Given the description of an element on the screen output the (x, y) to click on. 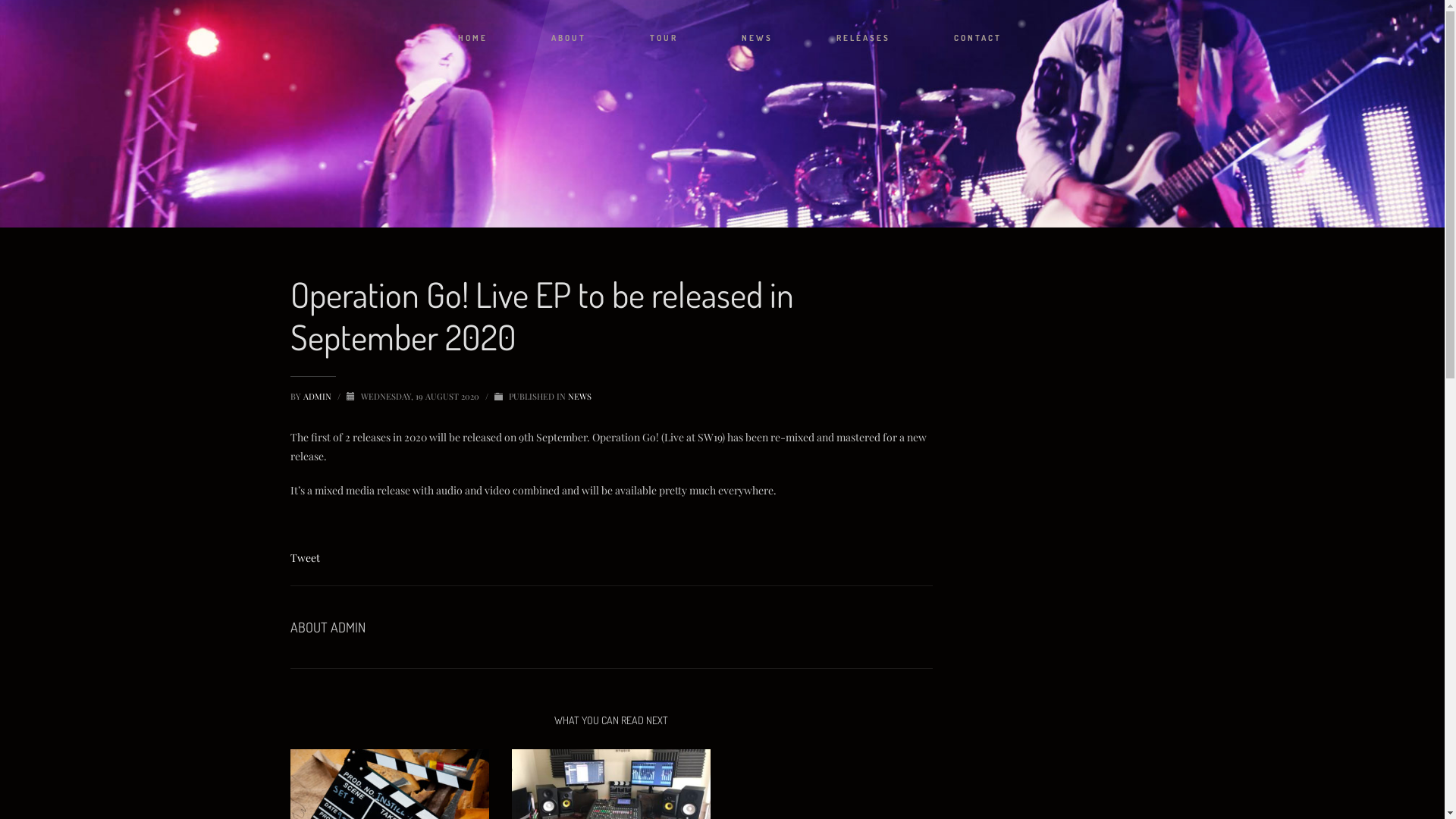
NEWS Element type: text (578, 395)
RELEASES Element type: text (863, 37)
ABOUT Element type: text (568, 37)
NEWS Element type: text (756, 37)
Tweet Element type: text (304, 557)
CONTACT Element type: text (977, 37)
TOUR Element type: text (663, 37)
ADMIN Element type: text (318, 395)
HOME Element type: text (472, 37)
